Given the description of an element on the screen output the (x, y) to click on. 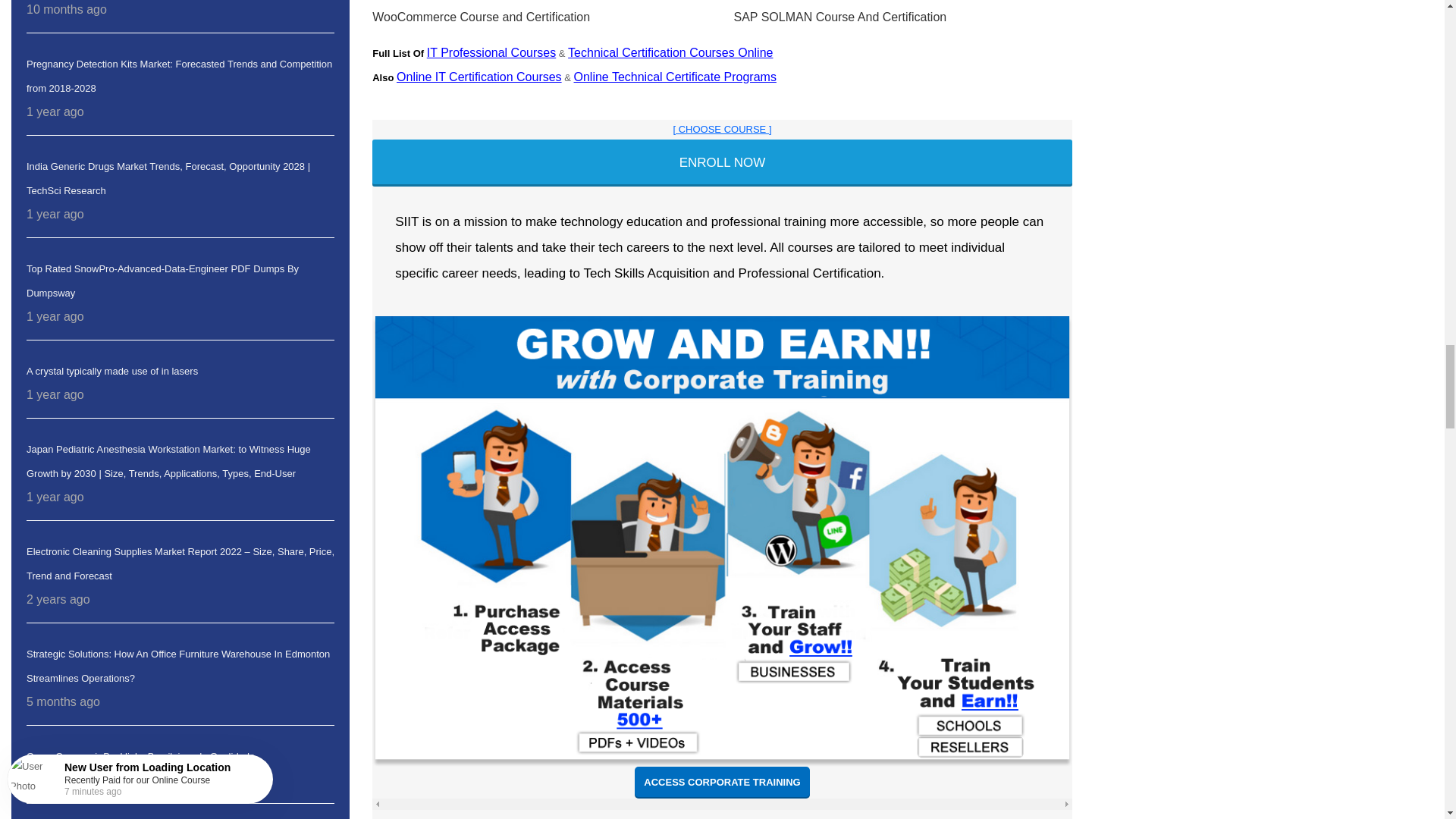
 ACCESS CORPORATE TRAINING  (721, 782)
